Given the description of an element on the screen output the (x, y) to click on. 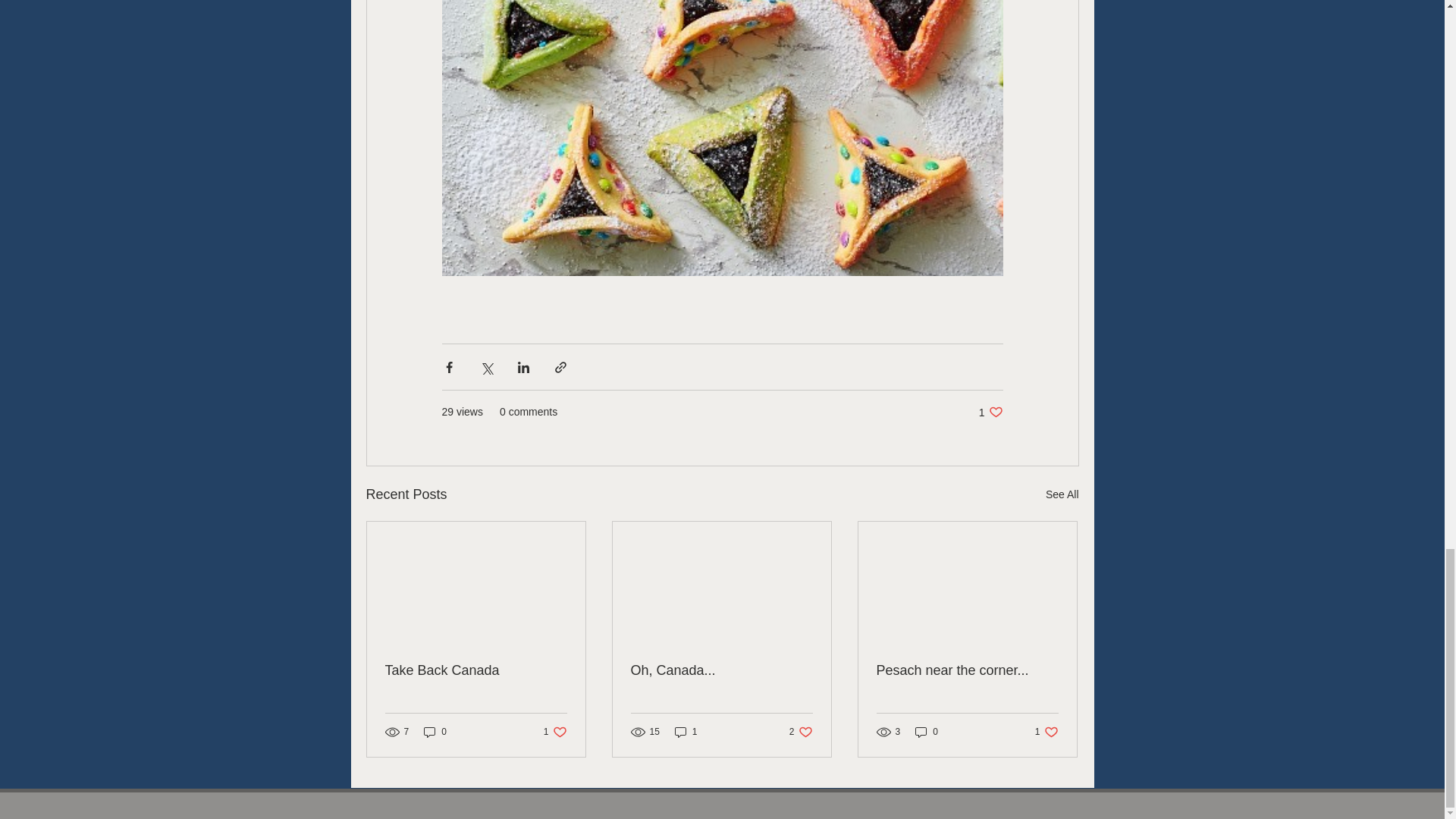
Take Back Canada (555, 731)
See All (476, 670)
0 (1061, 495)
